Given the description of an element on the screen output the (x, y) to click on. 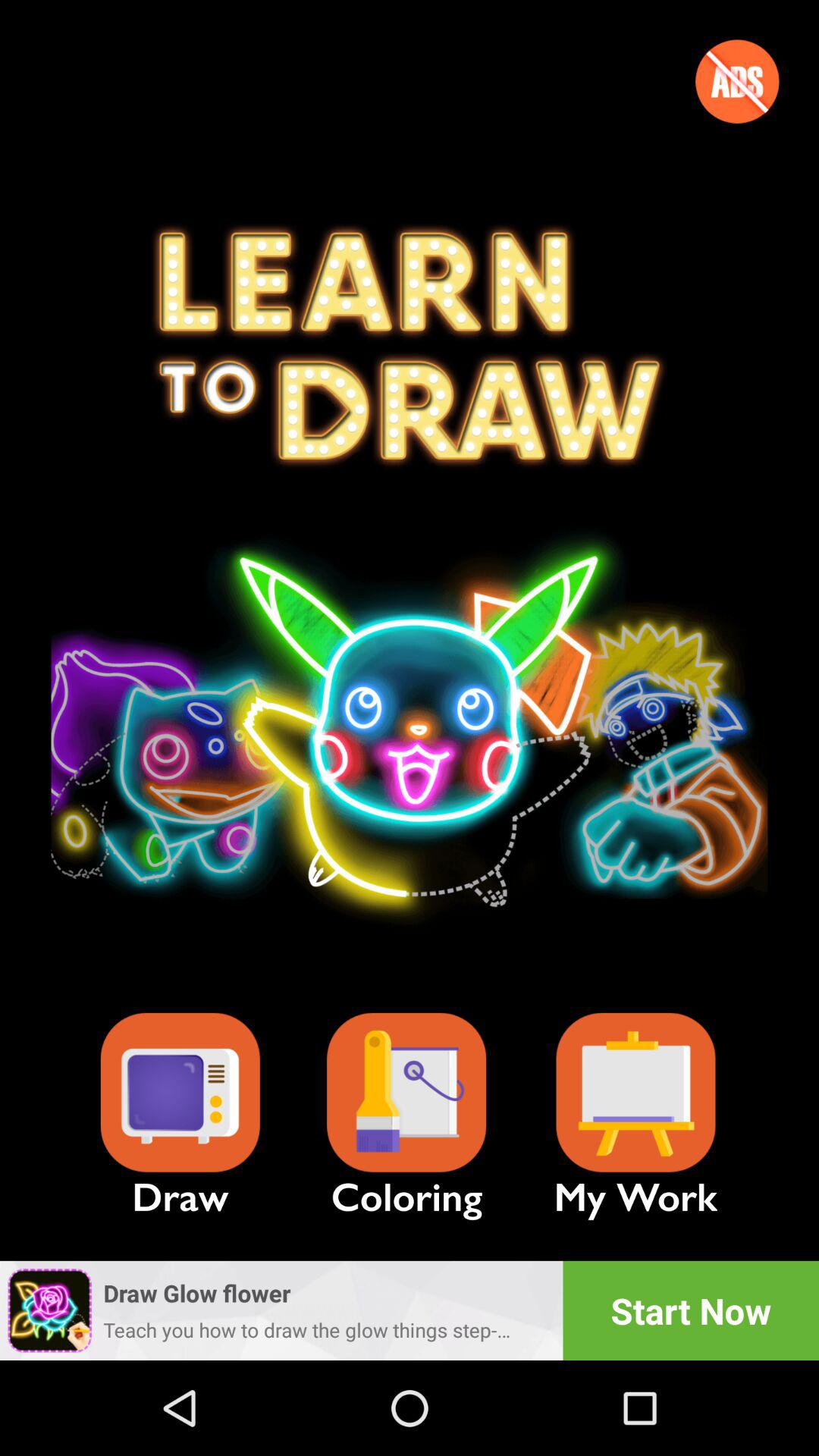
turn off the app to the right of draw glow flower app (691, 1310)
